Given the description of an element on the screen output the (x, y) to click on. 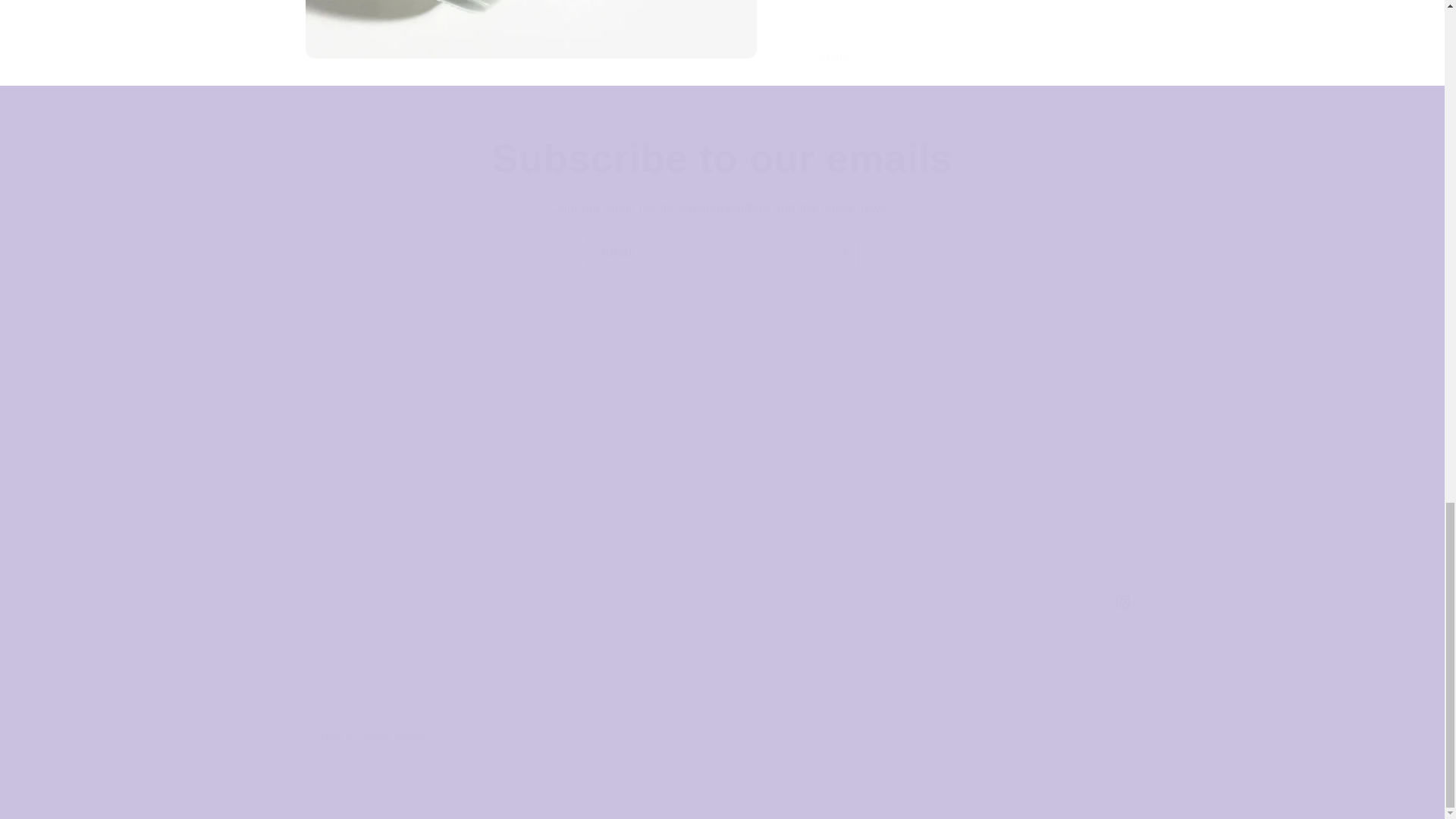
Email (722, 253)
Subscribe to our emails (721, 158)
Instagram (721, 602)
